Given the description of an element on the screen output the (x, y) to click on. 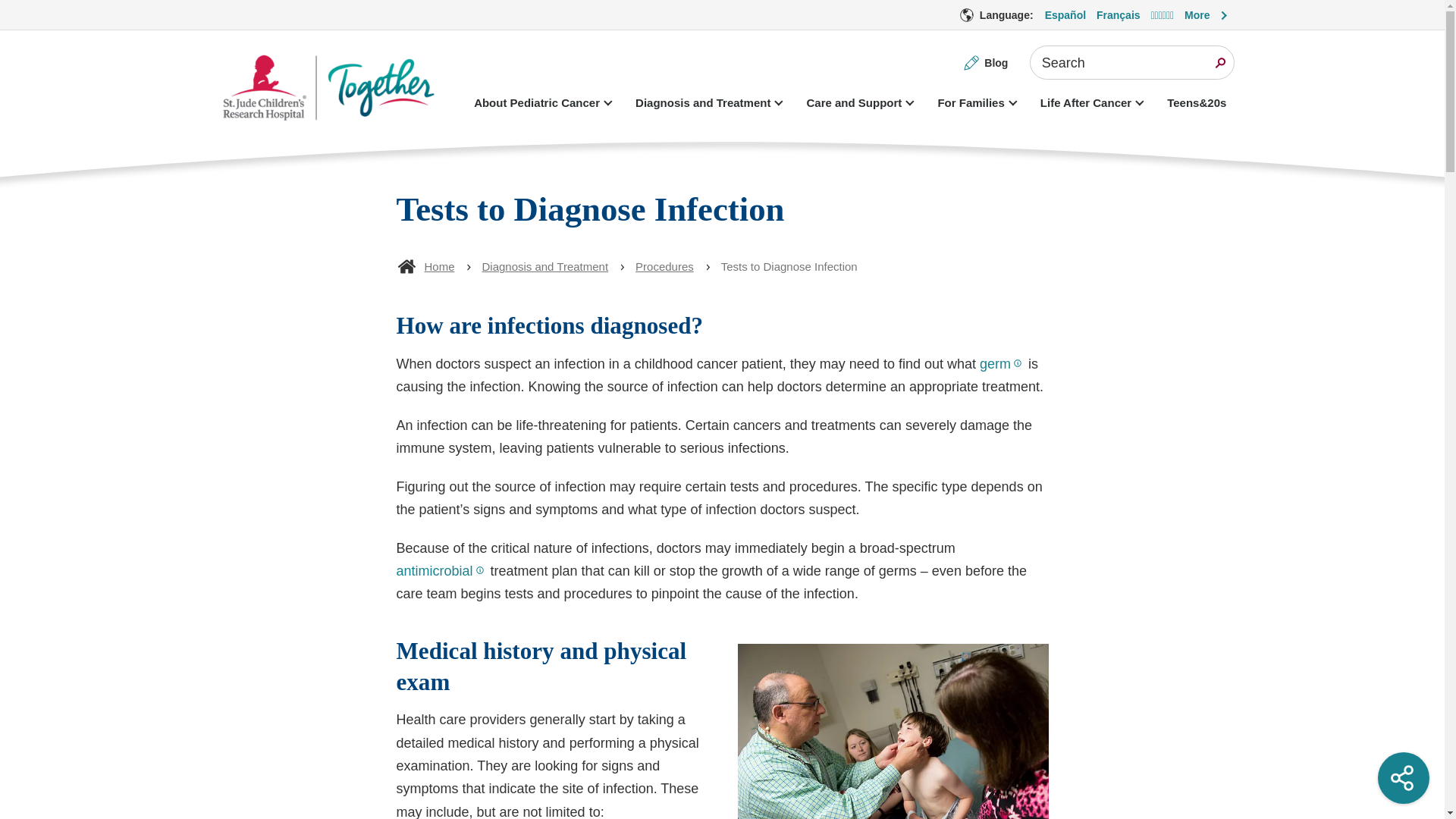
For Families (973, 103)
About Pediatric Cancer (538, 103)
Site Search (1131, 62)
Submit (1219, 62)
How are infections diagnosed? (722, 326)
Together Logo (331, 88)
Blog (985, 62)
Medical history and physical exam (722, 666)
Submit (1219, 62)
More (1207, 15)
Diagnosis and Treatment (705, 103)
Life After Cancer (1088, 103)
Care and Support (856, 103)
